Given the description of an element on the screen output the (x, y) to click on. 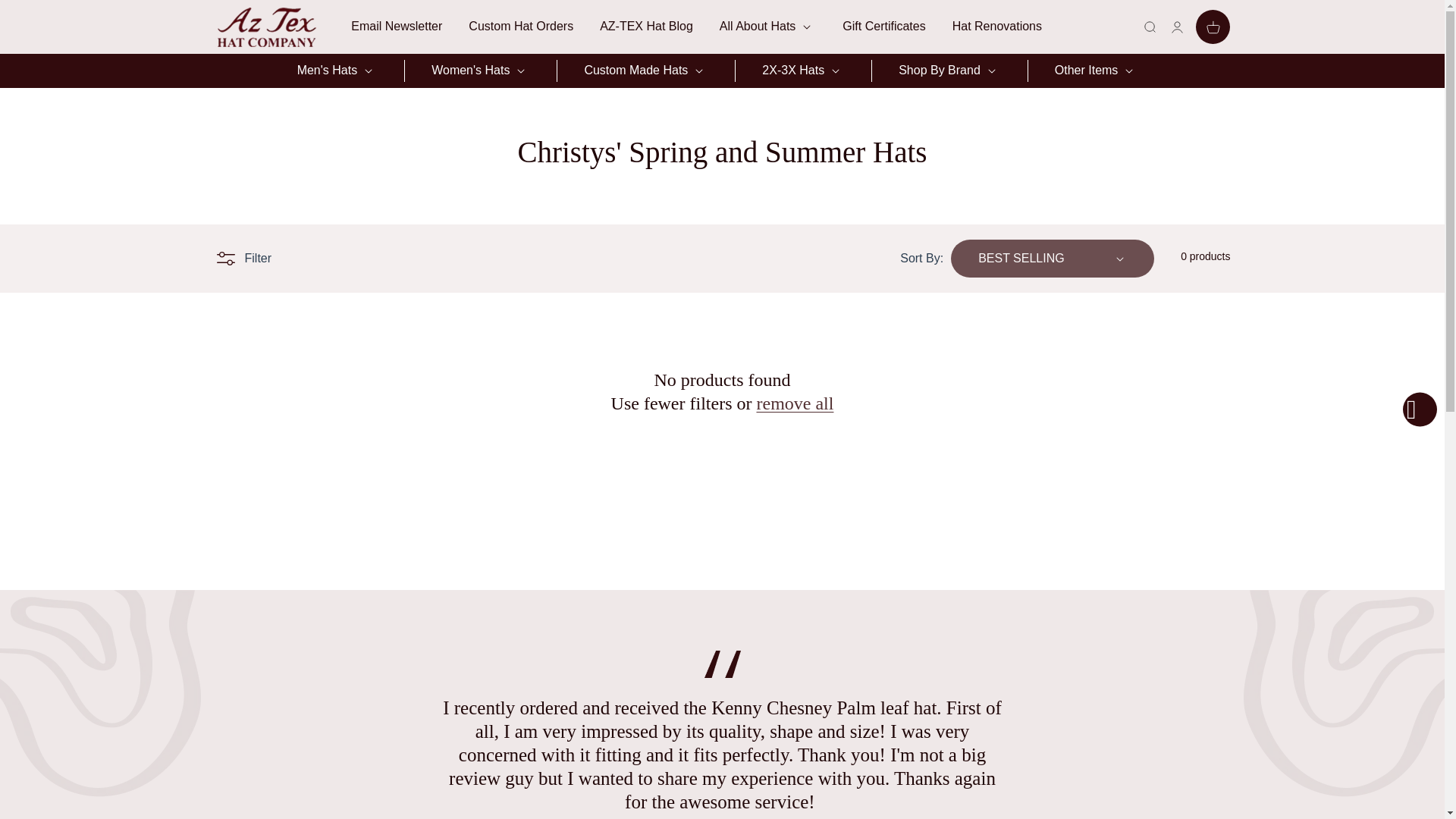
SKIP TO CONTENT (45, 17)
